Given the description of an element on the screen output the (x, y) to click on. 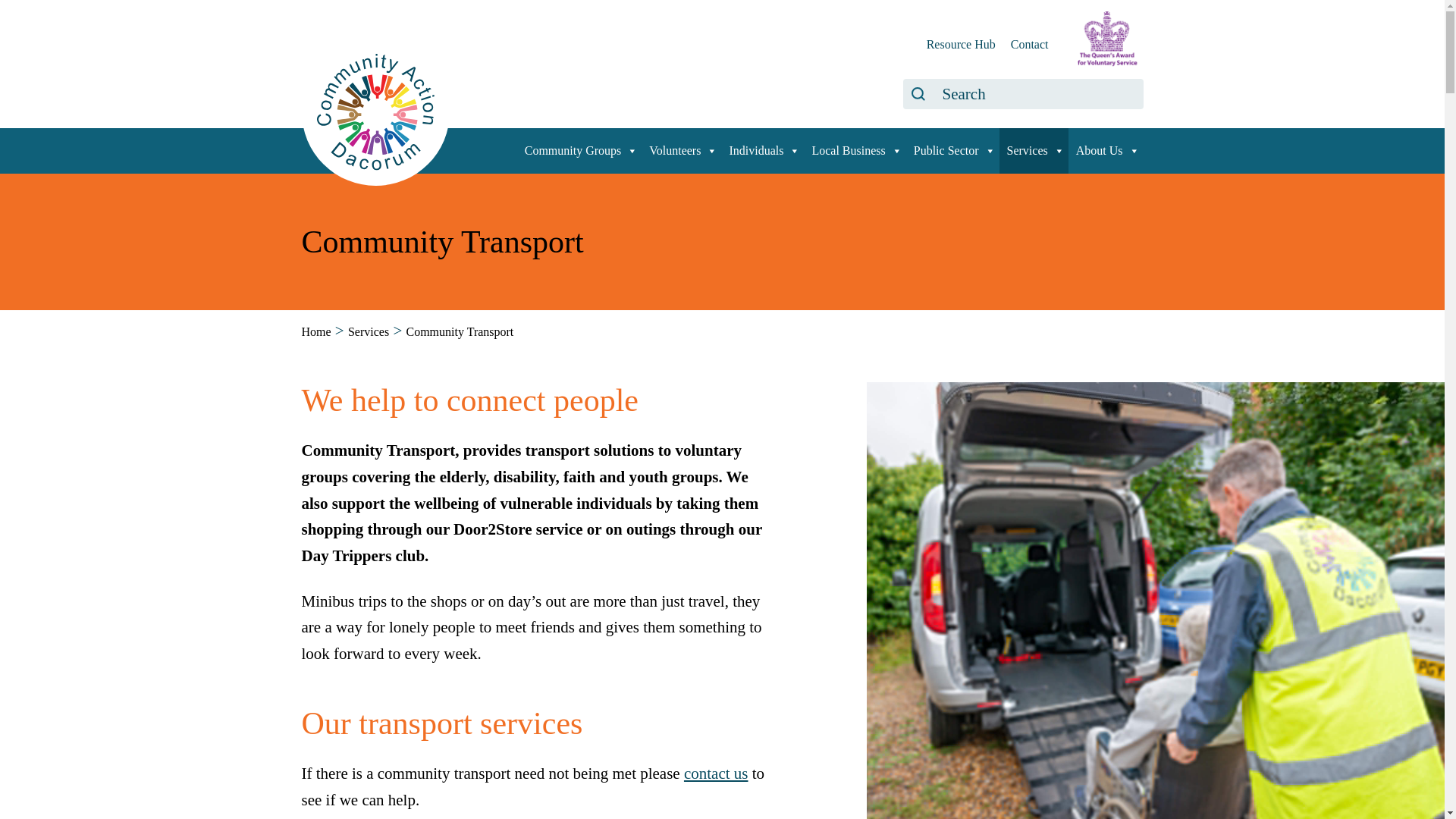
Resource Hub (960, 43)
Contact (1029, 43)
Individuals (761, 150)
Volunteers (681, 150)
Search (917, 93)
Community Action Dacorum (375, 111)
Community Groups (579, 150)
